Given the description of an element on the screen output the (x, y) to click on. 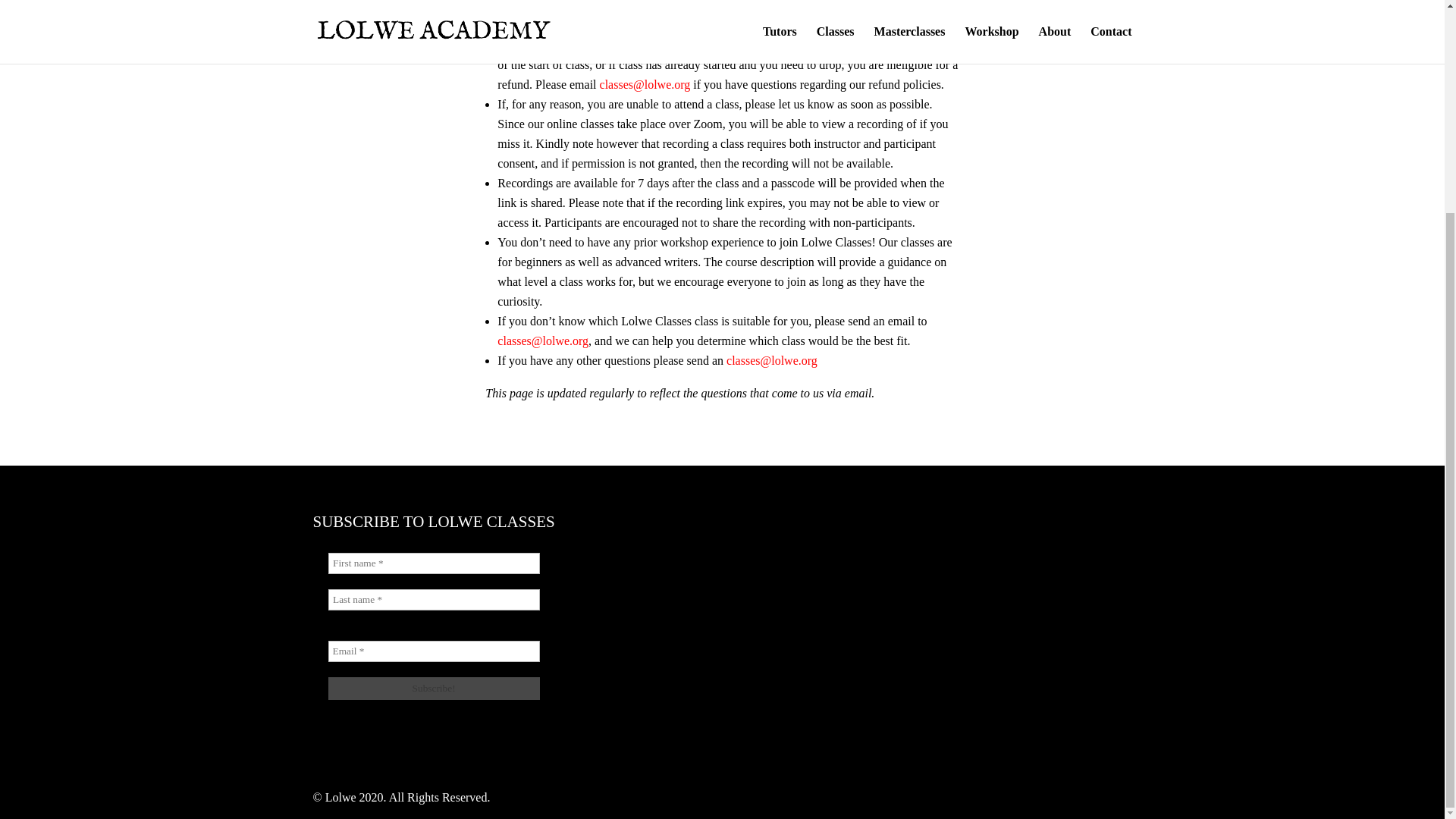
First name (432, 563)
Email (432, 650)
Subscribe! (432, 688)
Last name (432, 599)
Subscribe! (432, 688)
